Given the description of an element on the screen output the (x, y) to click on. 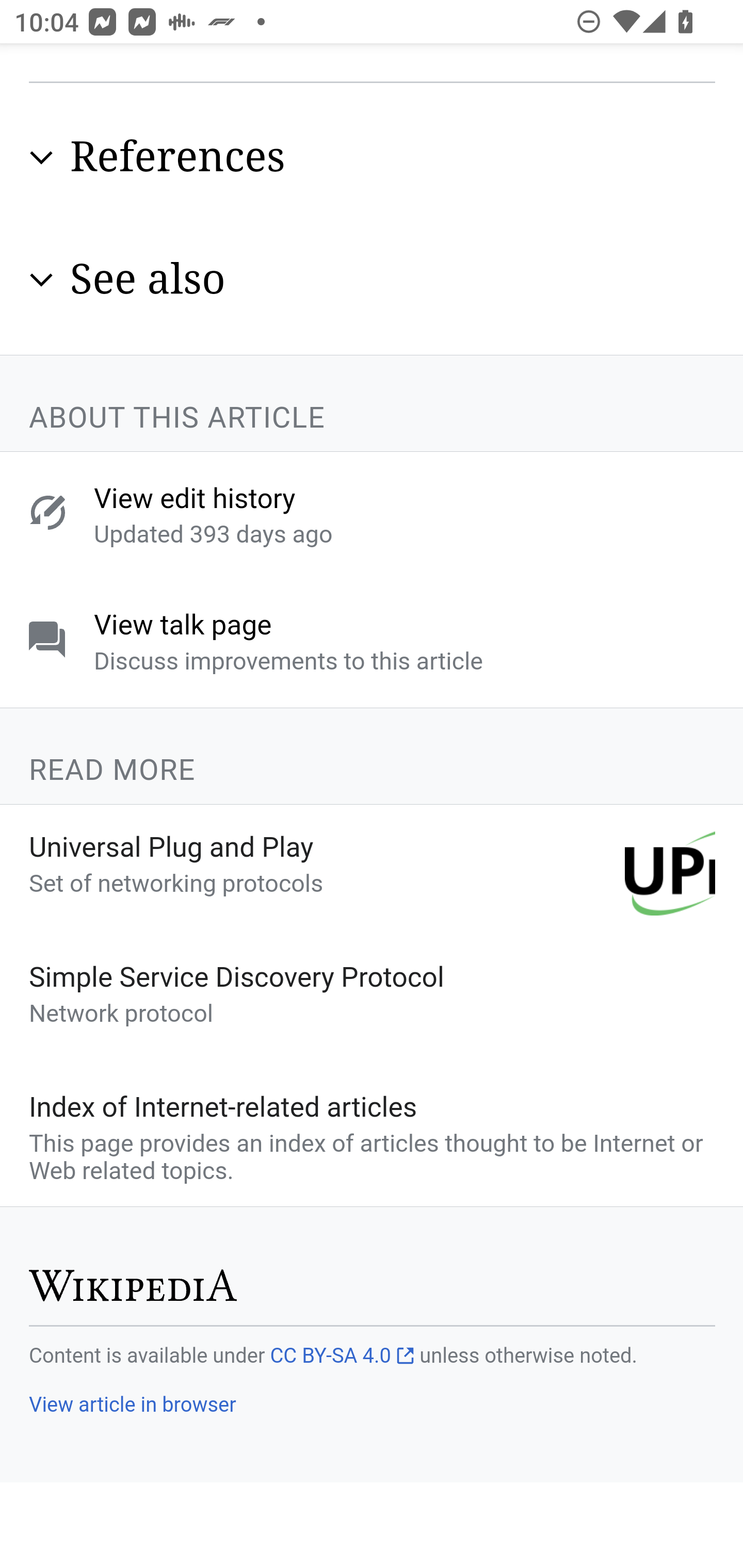
Expand section References (372, 157)
Expand section (41, 159)
Expand section See also (372, 281)
Expand section (41, 280)
CC BY-SA 4.0 (341, 1356)
View article in browser (132, 1405)
